Given the description of an element on the screen output the (x, y) to click on. 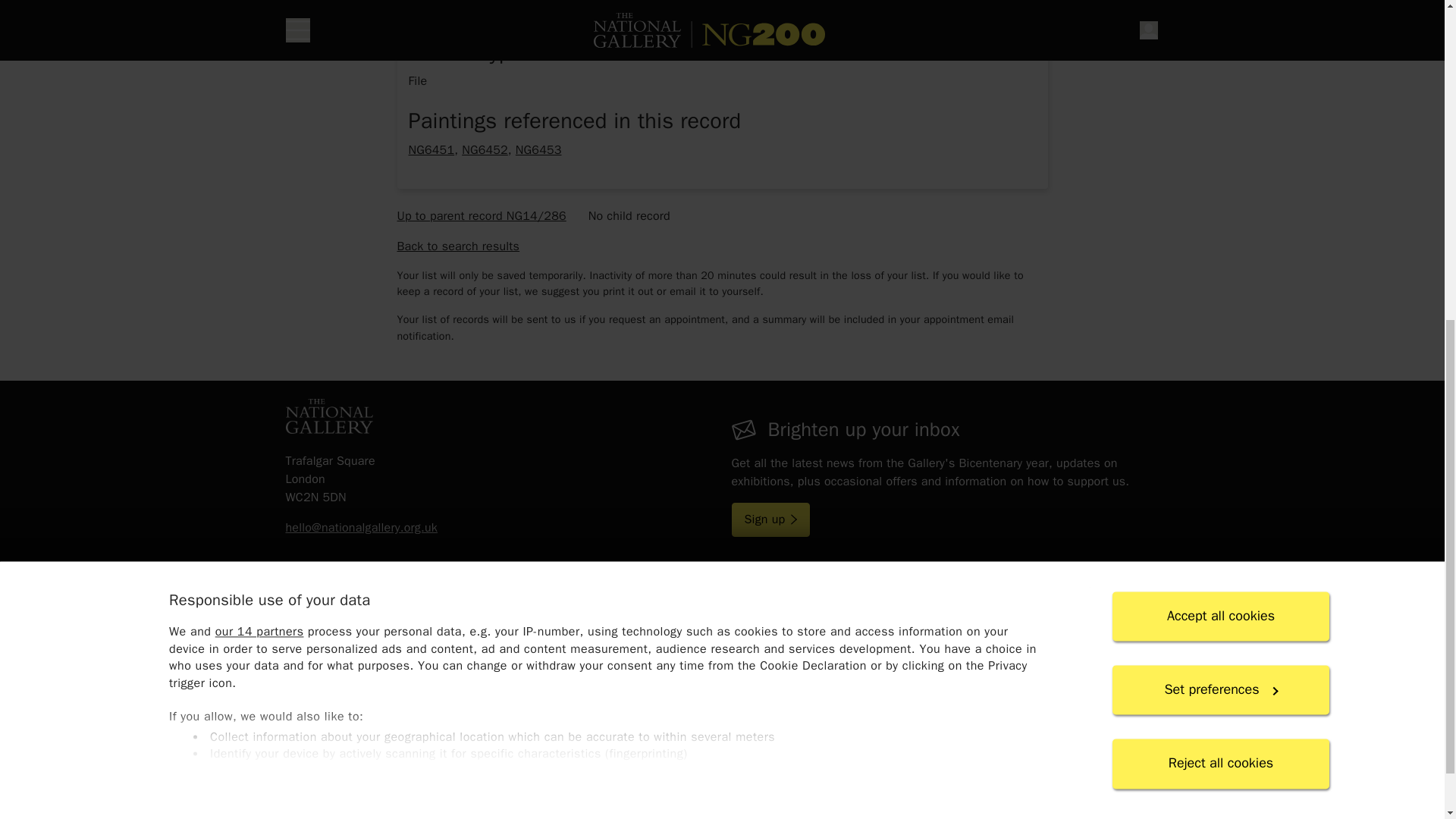
details section (720, 215)
cookies policy (596, 274)
our 14 partners (258, 73)
